Given the description of an element on the screen output the (x, y) to click on. 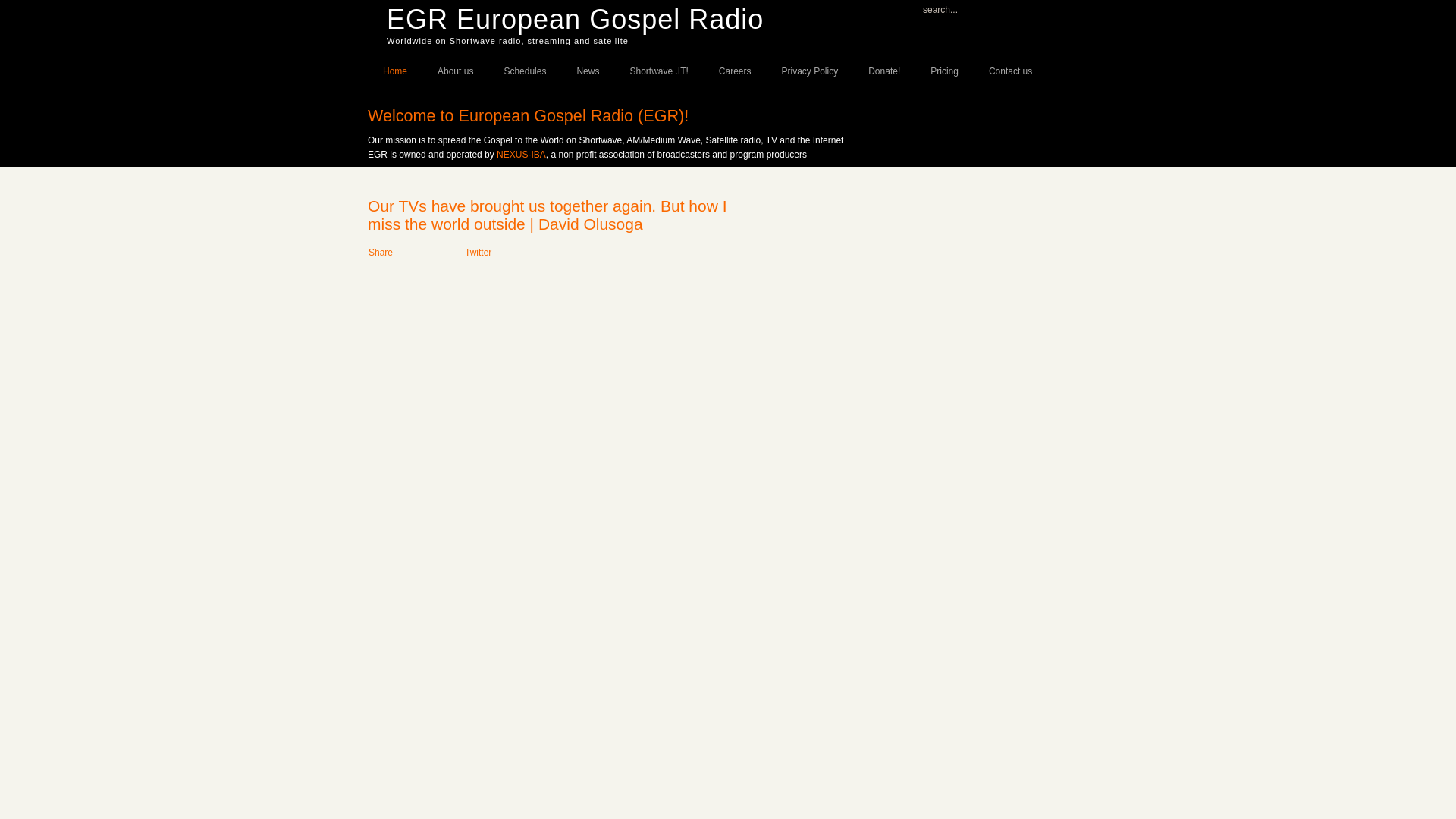
News (587, 69)
Contact us (1010, 69)
About us (454, 69)
Schedules (523, 69)
Privacy Policy (810, 69)
Share (380, 252)
search... (964, 7)
Shortwave .IT! (658, 69)
NEXUS-IBA (521, 154)
Twitter (478, 252)
About us (454, 69)
EGR European Gospel Radio (574, 20)
News (587, 69)
Donate! (884, 69)
Home (395, 69)
